Given the description of an element on the screen output the (x, y) to click on. 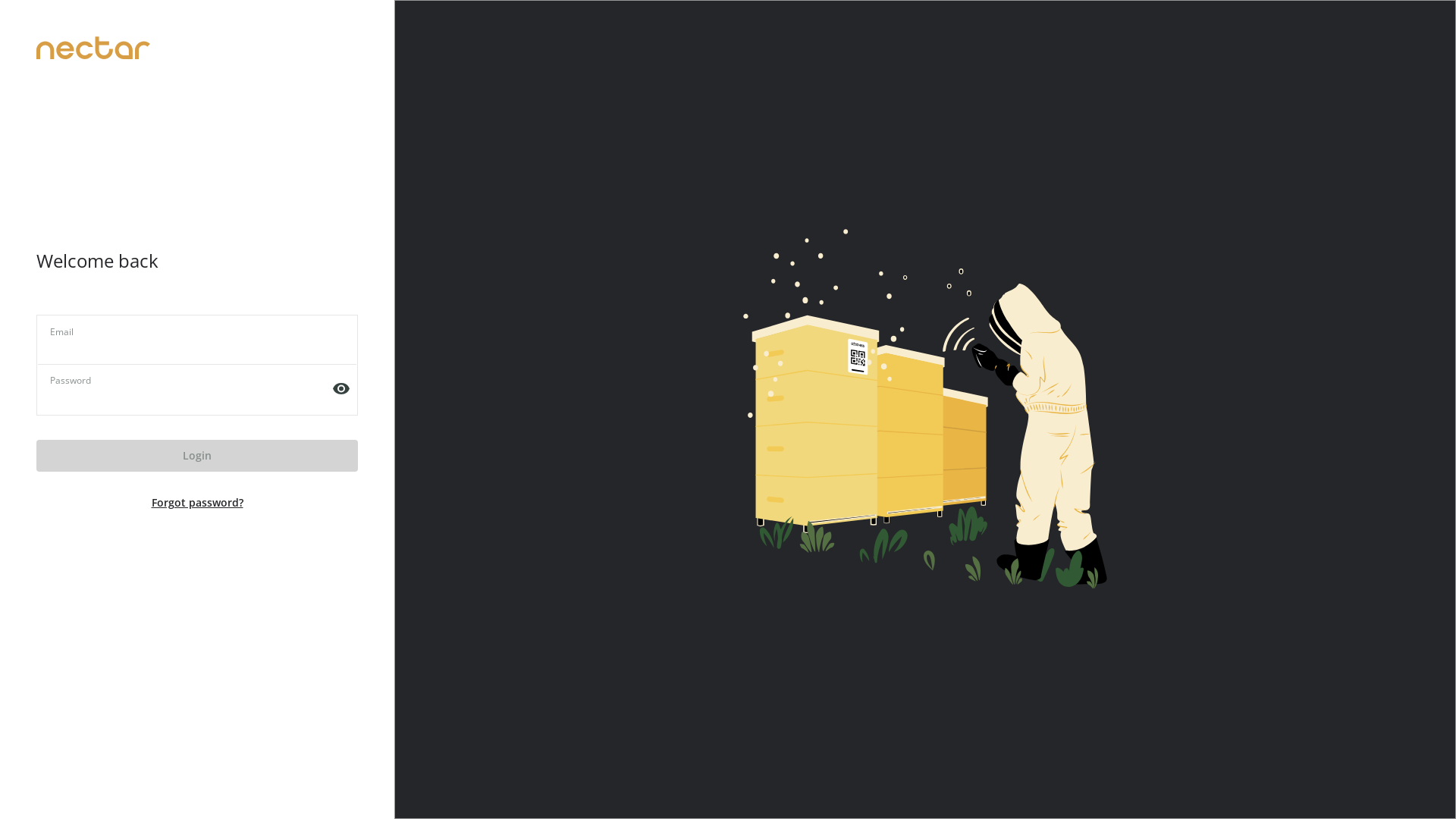
Forgot password? Element type: text (196, 502)
Login Element type: text (196, 455)
